Given the description of an element on the screen output the (x, y) to click on. 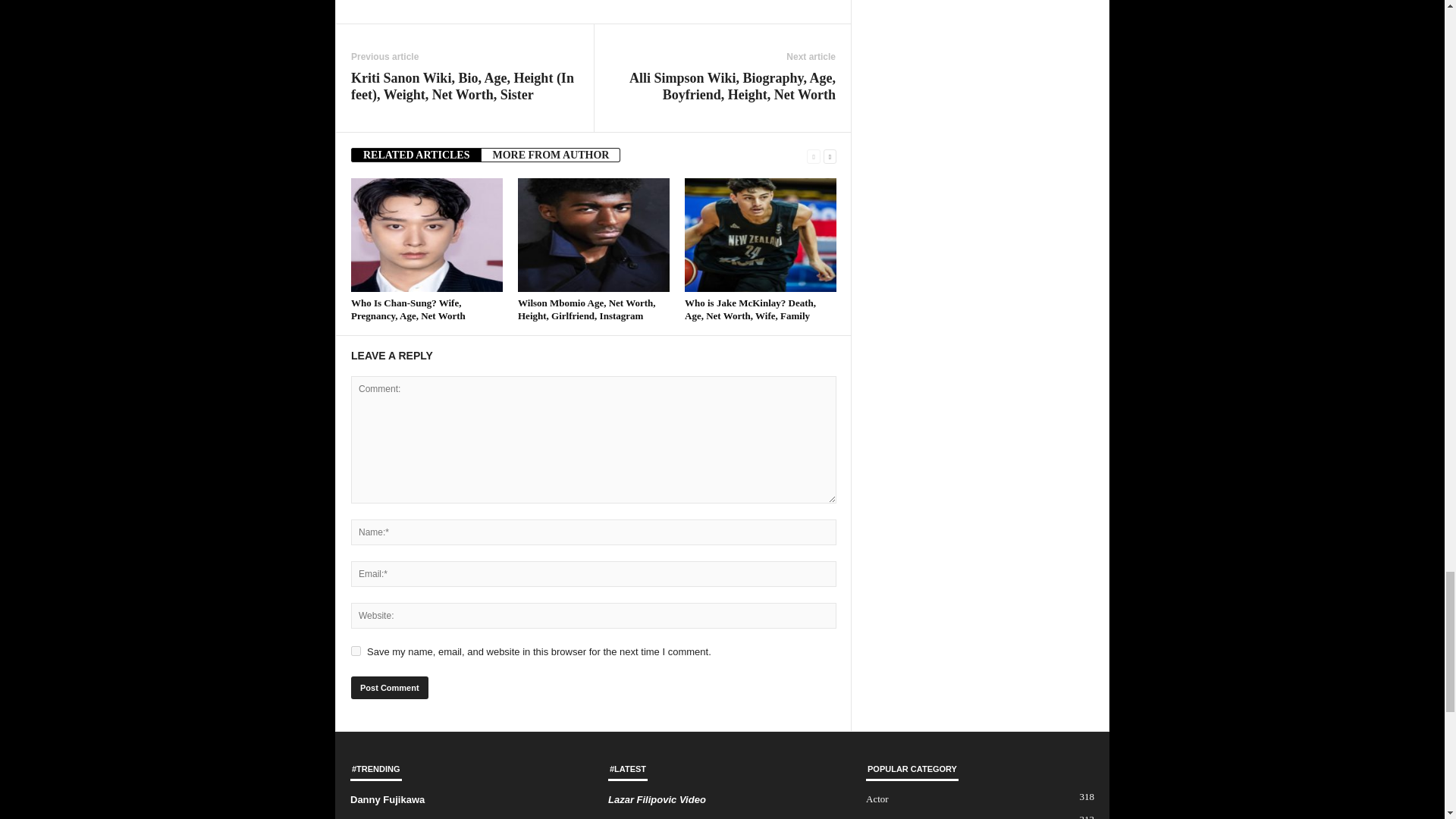
Who Is Chan-Sung? Wife, Pregnancy, Age, Net Worth (426, 234)
Post Comment (389, 687)
yes (355, 651)
Who Is Chan-Sung? Wife, Pregnancy, Age, Net Worth (407, 309)
Wilson Mbomio Age, Net Worth, Height, Girlfriend, Instagram (593, 234)
